Given the description of an element on the screen output the (x, y) to click on. 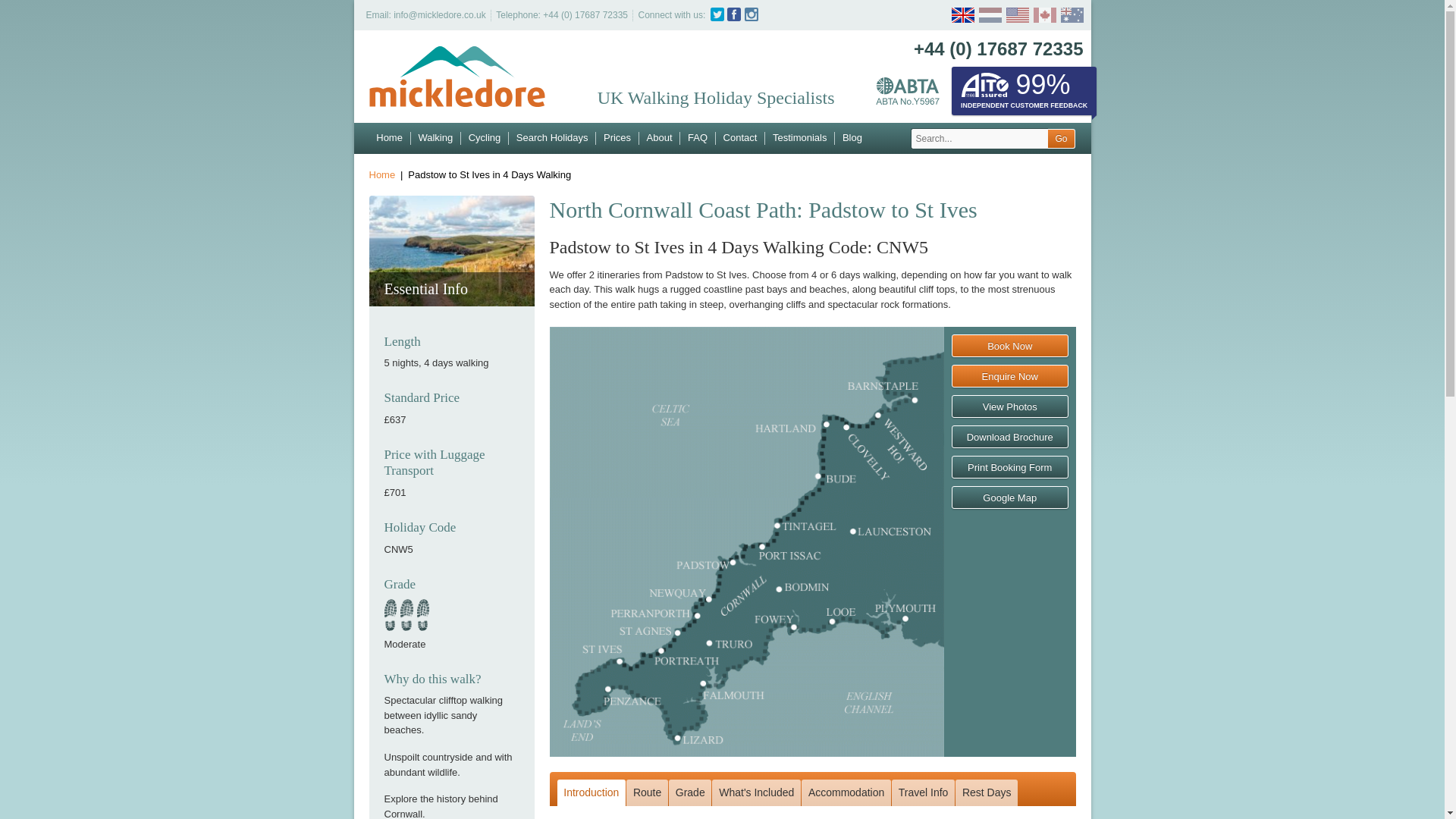
Nederlands (987, 14)
English (962, 14)
Walking (435, 137)
United States (1014, 14)
Canada (1041, 14)
Home (389, 137)
Australia (1069, 14)
